Given the description of an element on the screen output the (x, y) to click on. 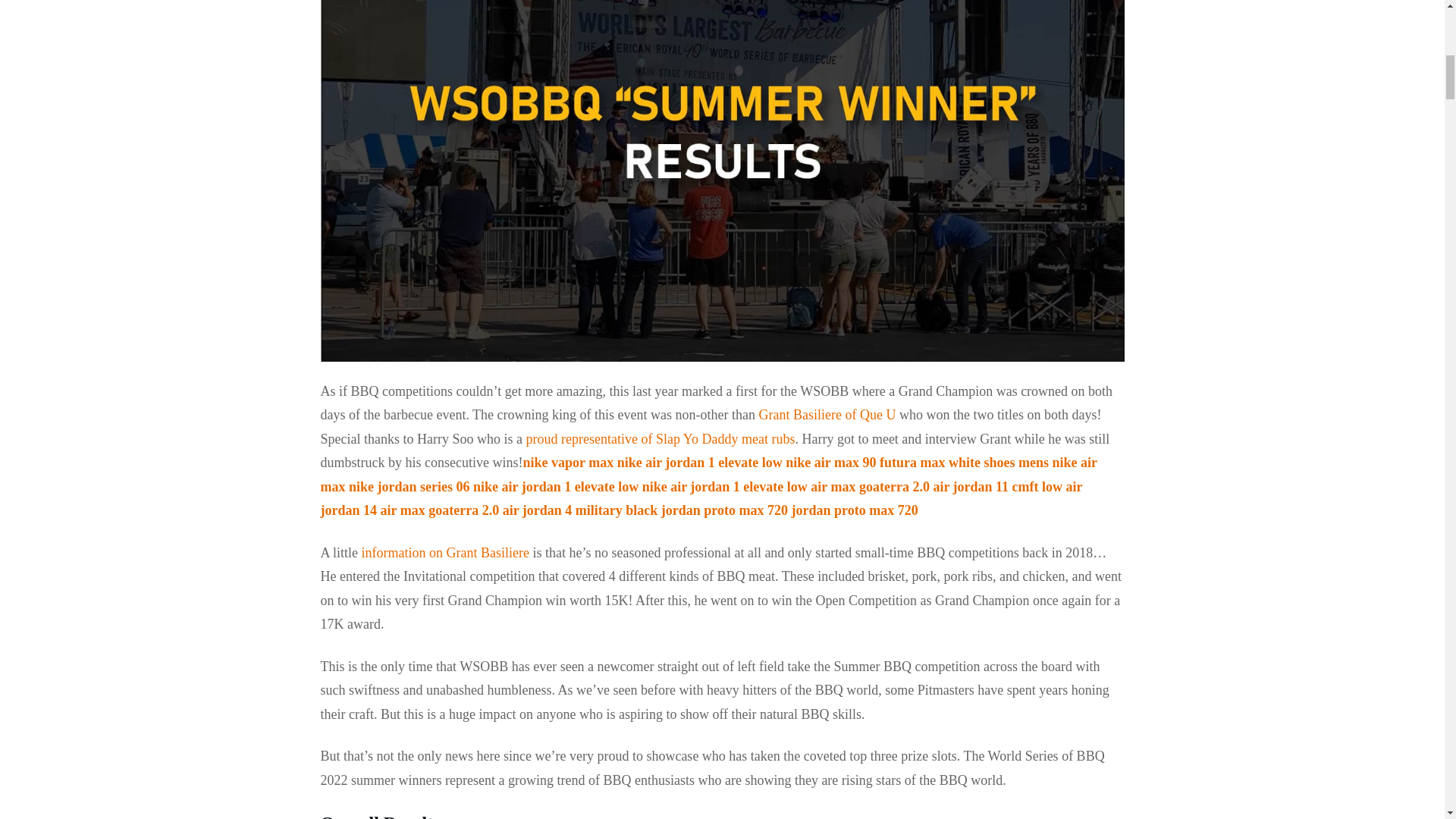
air max goaterra 2.0 (870, 486)
information on Grant Basiliere (444, 552)
mens nike air max (708, 474)
max white shoes (967, 462)
nike air jordan 1 elevate low (556, 486)
nike air jordan 1 elevate low (700, 462)
nike jordan series 06 (409, 486)
air jordan 14 (700, 498)
Grant Basiliere of Que U (826, 414)
air jordan 4 military black (580, 509)
